Given the description of an element on the screen output the (x, y) to click on. 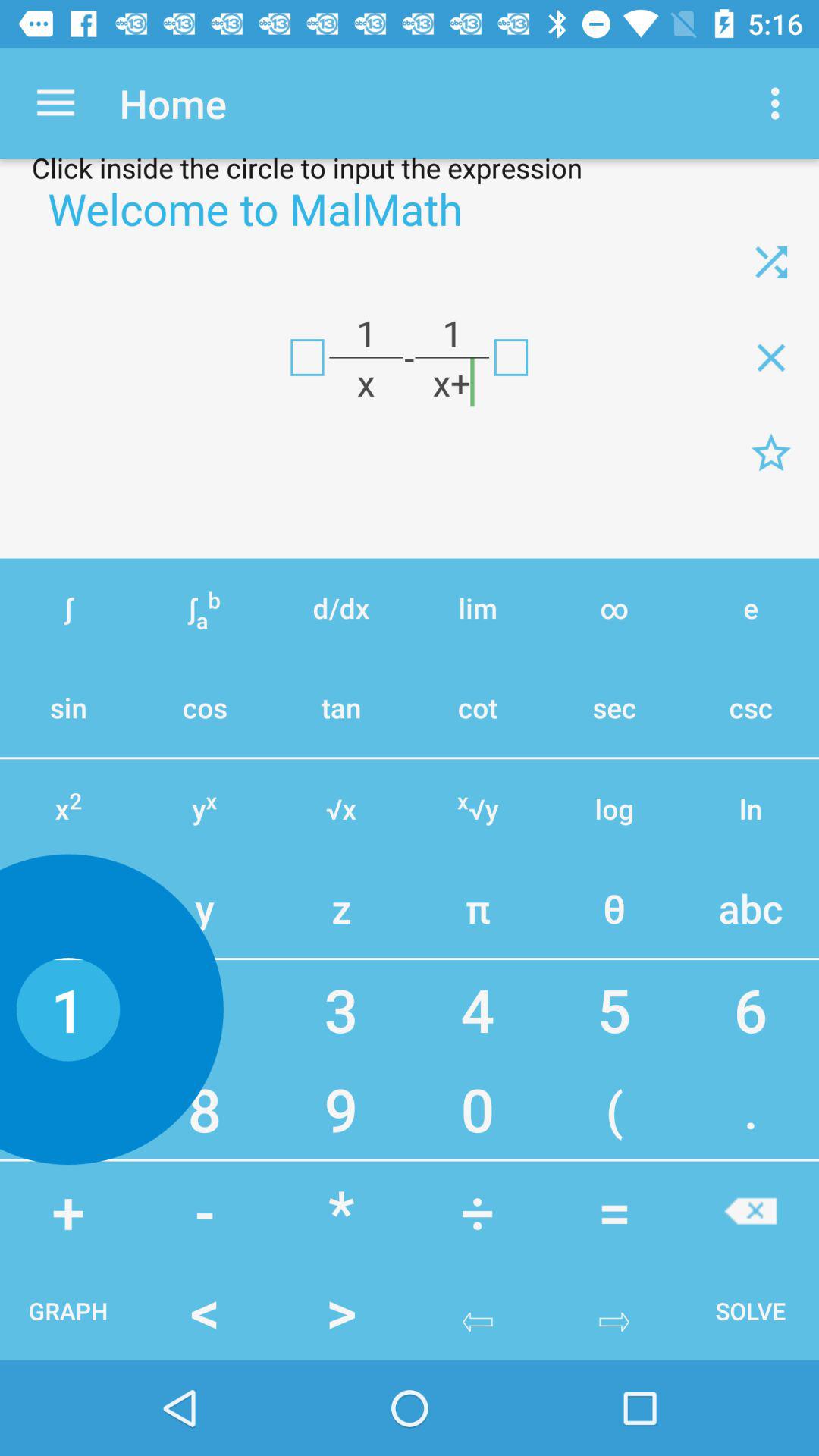
cancel all calculations (771, 357)
